Given the description of an element on the screen output the (x, y) to click on. 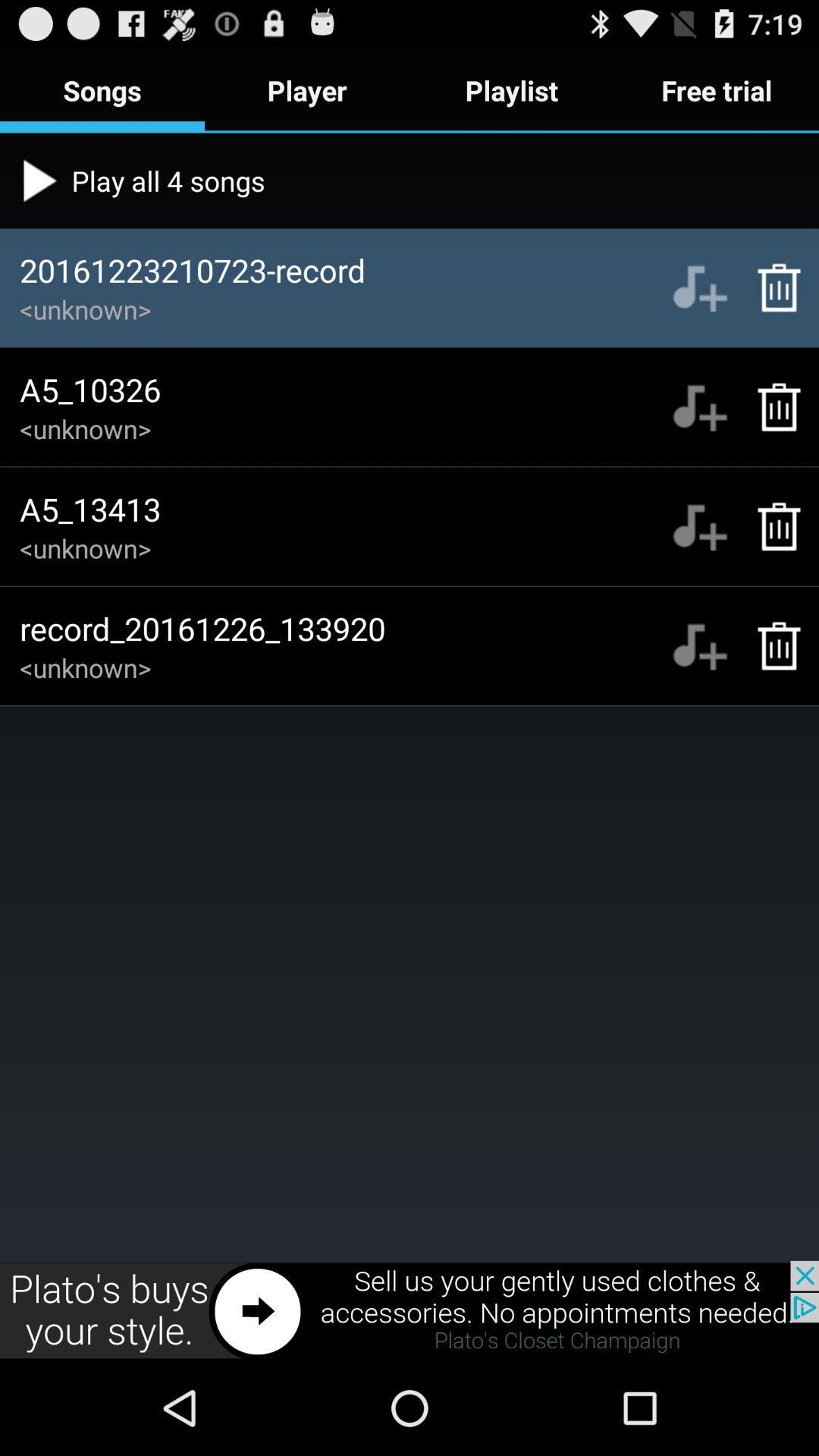
add play (699, 407)
